Given the description of an element on the screen output the (x, y) to click on. 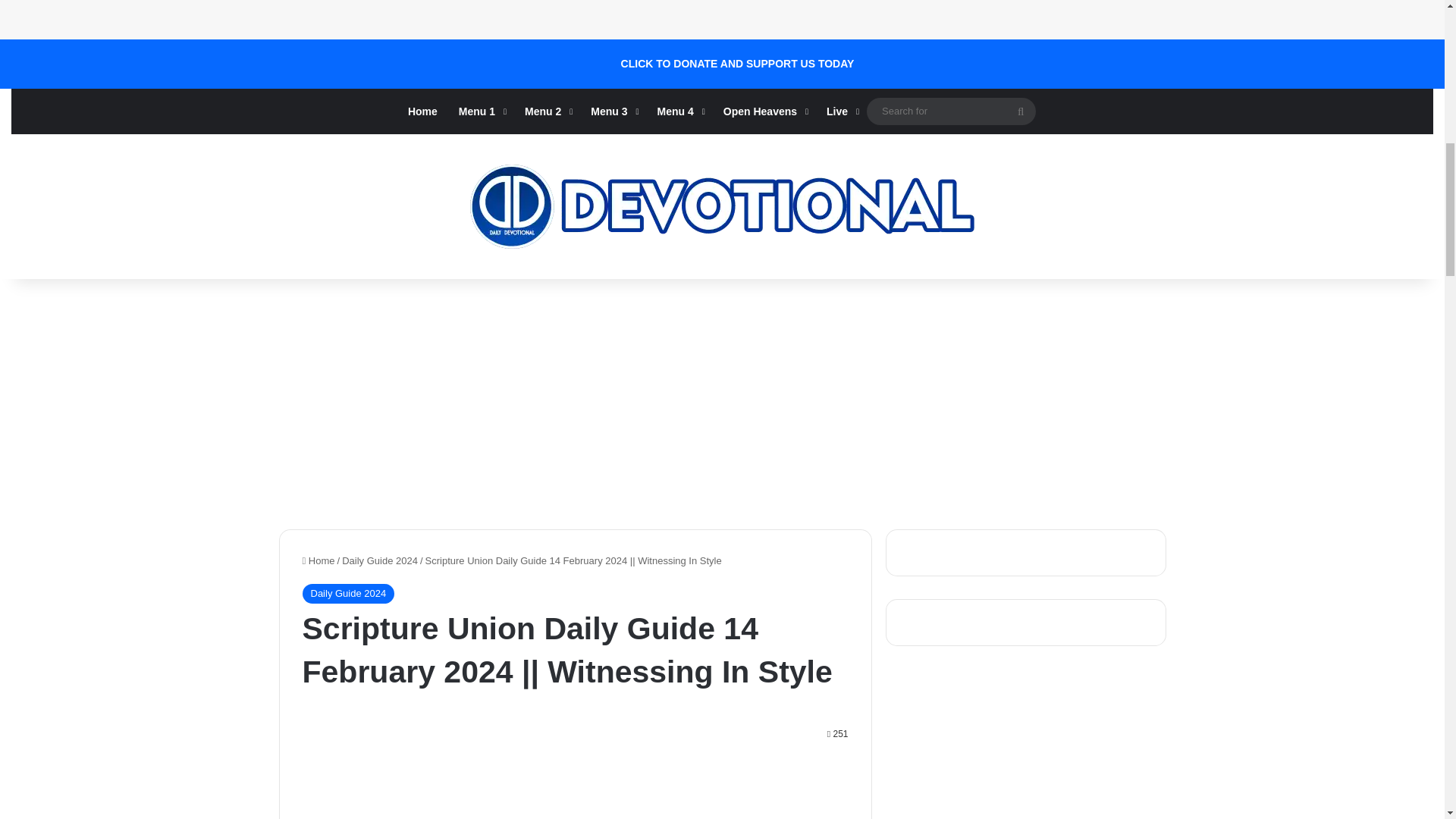
Search for (950, 110)
Open Heavens (764, 111)
CLICK TO DONATE AND SUPPORT US TODAY (737, 63)
Daily Devotional Today (722, 206)
Menu 1 (480, 111)
Menu 2 (546, 111)
Home (422, 111)
Menu 4 (679, 111)
CLICK TO DONATE AND SUPPORT US TODAY (737, 63)
Menu 3 (612, 111)
Advertisement (455, 17)
